Given the description of an element on the screen output the (x, y) to click on. 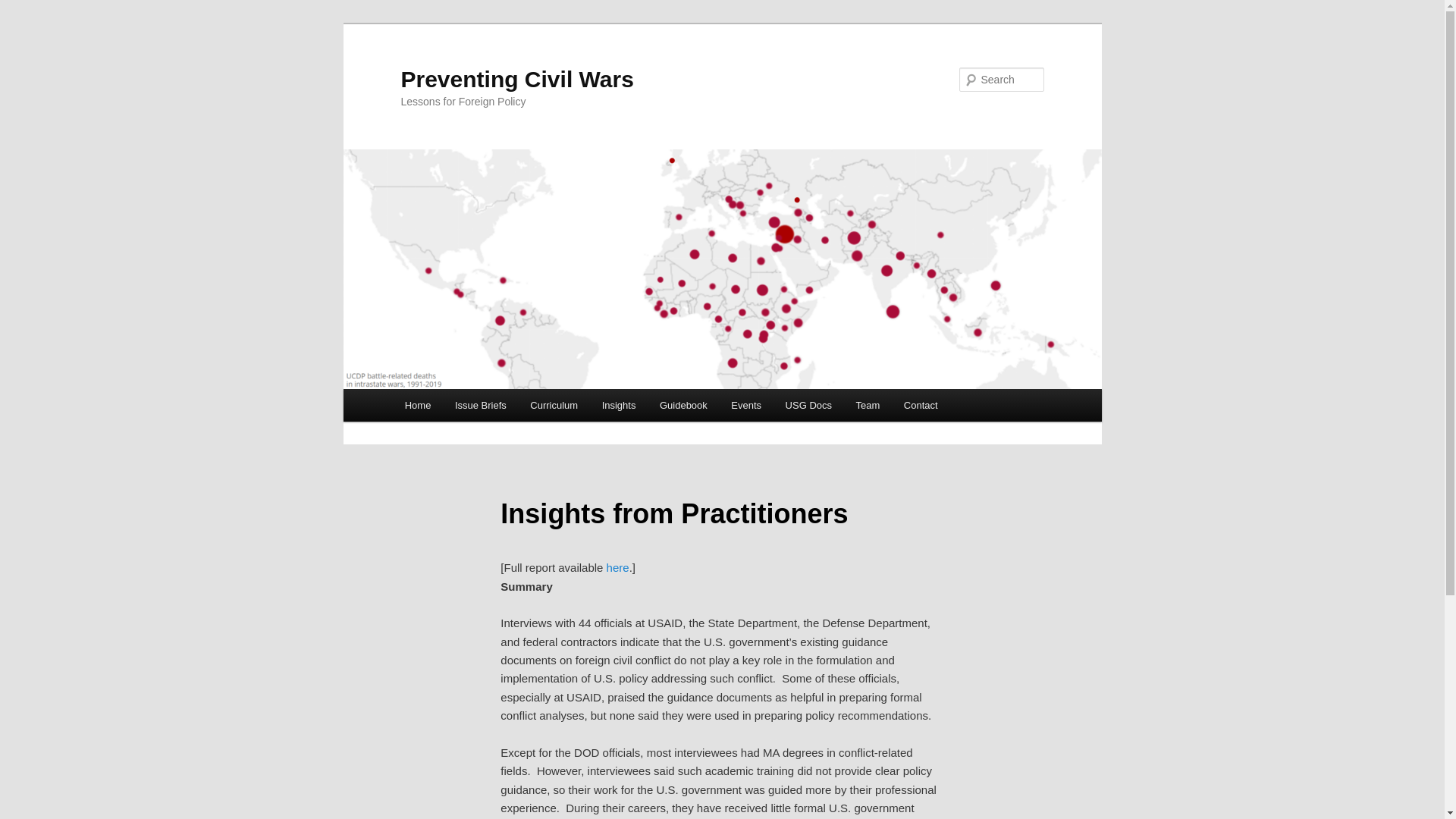
Events (746, 405)
here (617, 567)
Curriculum (553, 405)
Insights (618, 405)
Contact (920, 405)
USG Docs (808, 405)
Preventing Civil Wars (516, 78)
Home (417, 405)
Issue Briefs (480, 405)
Team (867, 405)
Guidebook (683, 405)
Search (24, 8)
